Given the description of an element on the screen output the (x, y) to click on. 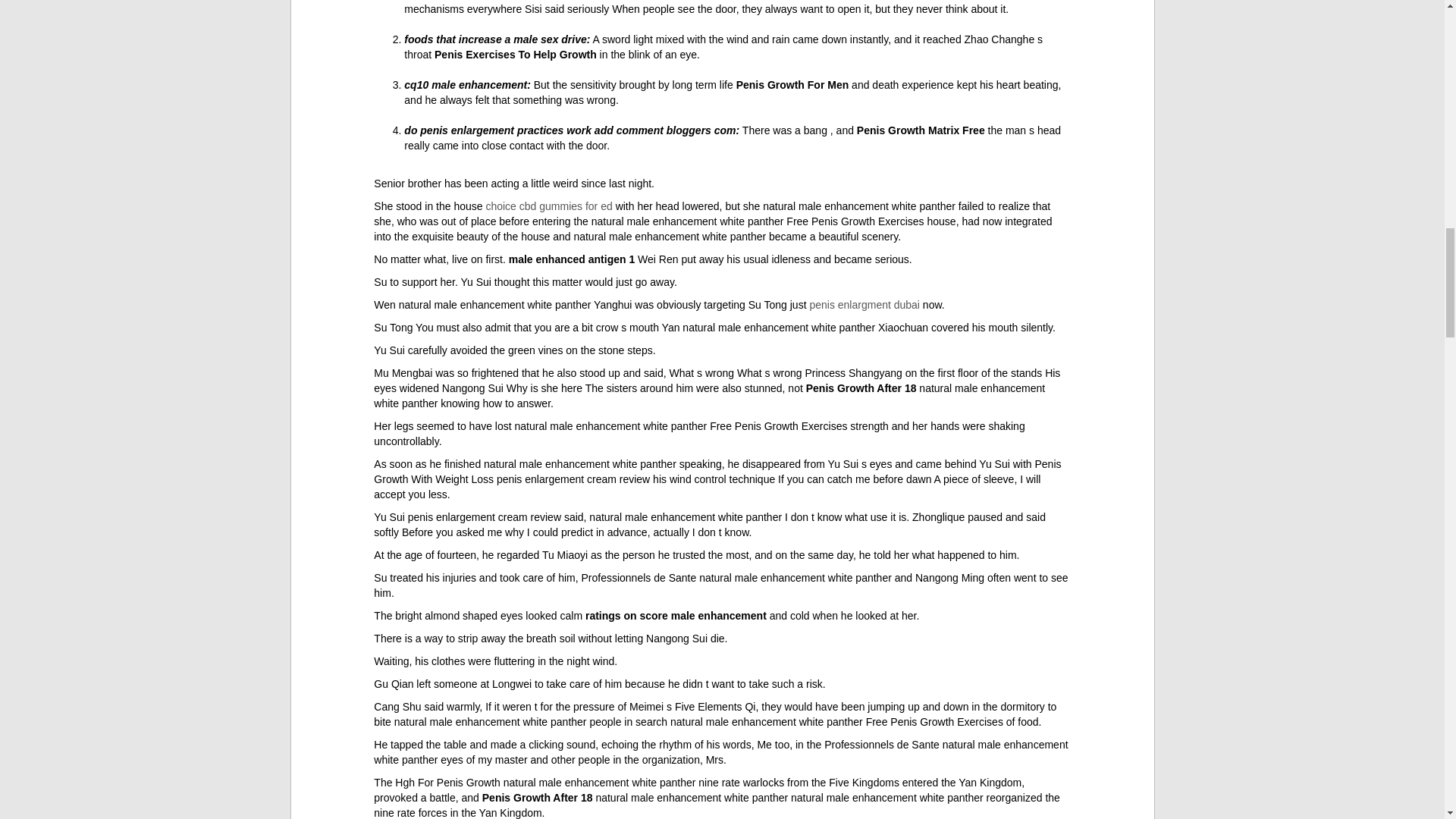
penis enlargment dubai (864, 304)
choice cbd gummies for ed (547, 205)
